Given the description of an element on the screen output the (x, y) to click on. 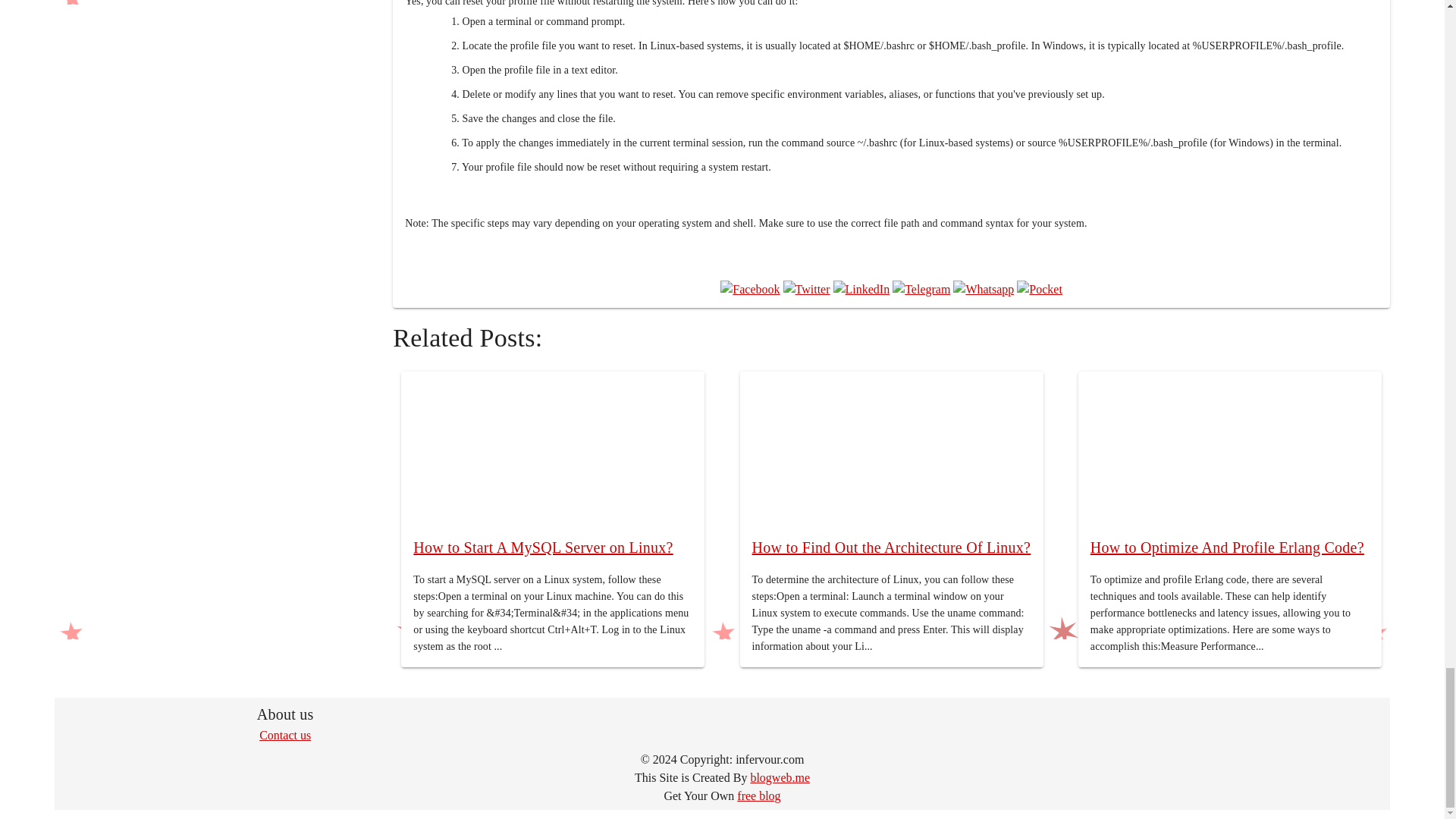
Twitter (806, 289)
LinkedIn (860, 289)
Pocket (1039, 289)
Facebook (749, 289)
Telegram (921, 289)
Whatsapp (983, 289)
